Given the description of an element on the screen output the (x, y) to click on. 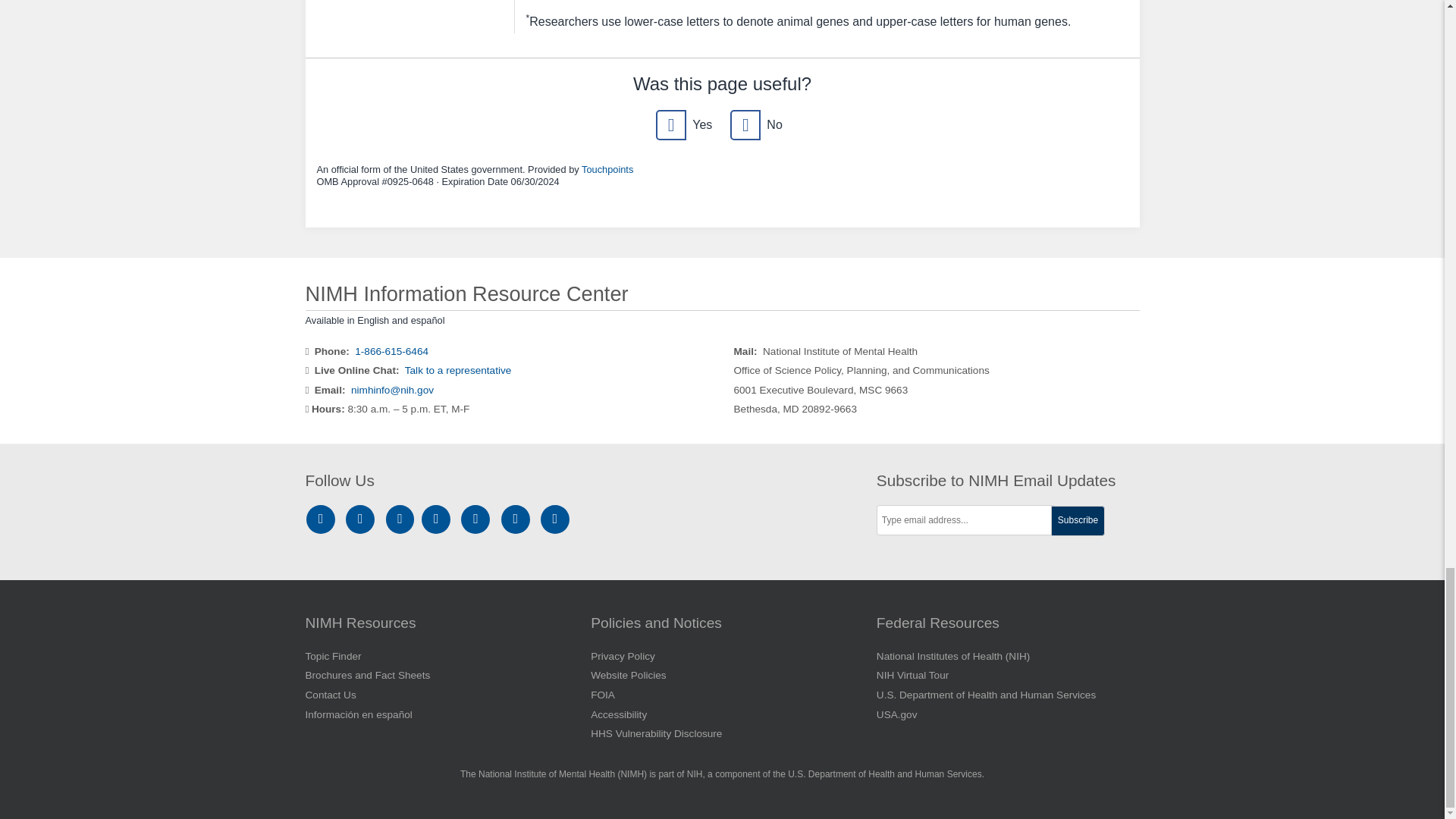
NIMH Facebook (363, 518)
NIMH Twitter (438, 518)
Subscribe (1078, 521)
NIMH Newsletters (515, 518)
NIMH LinkedIn (402, 518)
No (745, 124)
NIMH News Feeds (555, 518)
Yes (670, 124)
NIMH YouTube (478, 518)
NIMH Instagram (322, 518)
